Given the description of an element on the screen output the (x, y) to click on. 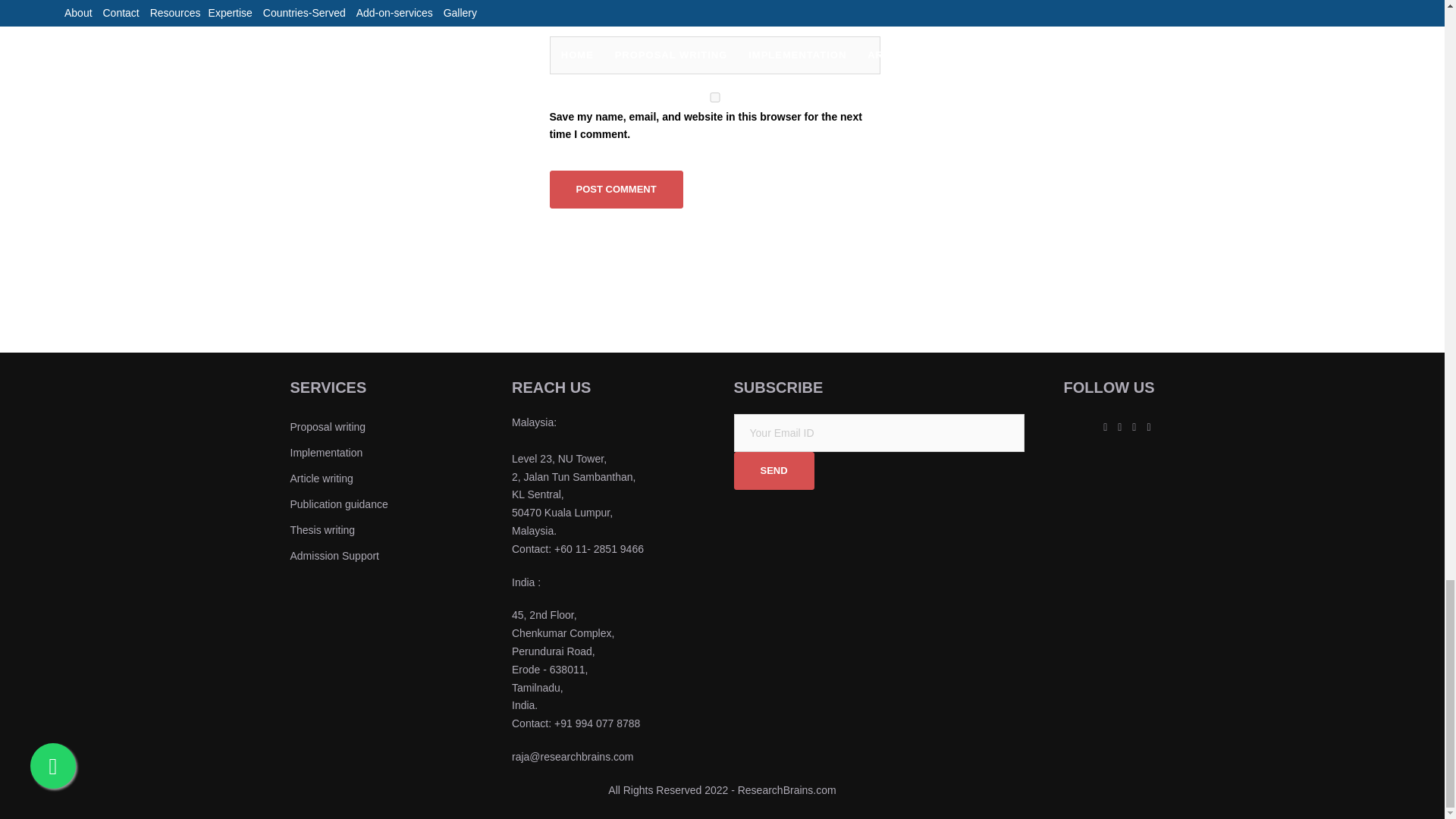
Post Comment (615, 189)
Send (773, 470)
Implementation (325, 452)
Post Comment (615, 189)
yes (713, 97)
Send (773, 470)
Article writing (320, 478)
Admission Support (333, 555)
Proposal writing (327, 426)
Publication guidance (338, 503)
